Given the description of an element on the screen output the (x, y) to click on. 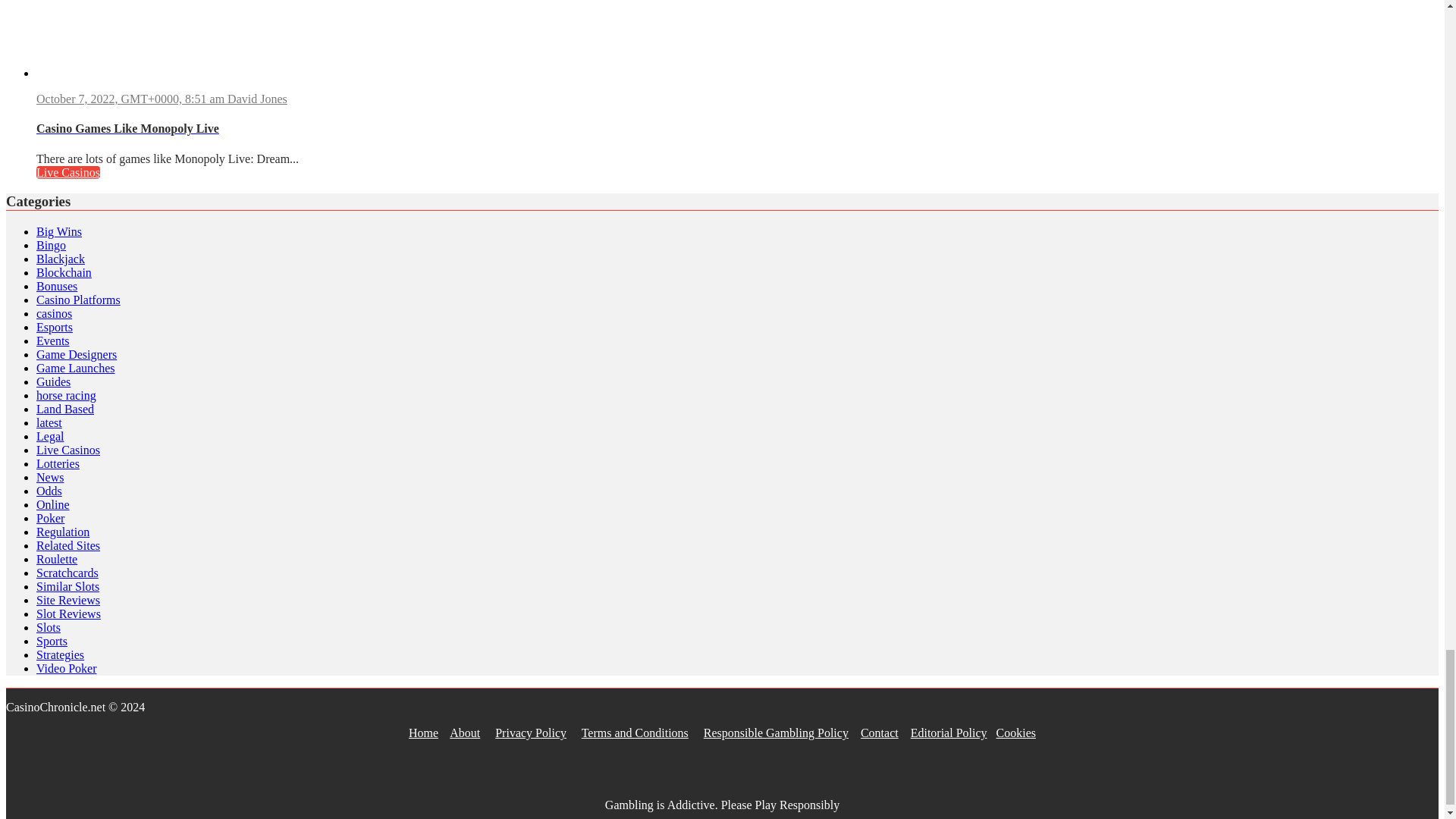
Casino Platforms (78, 299)
David Jones (256, 98)
Game Designers (76, 354)
Big Wins (58, 231)
Bonuses (56, 286)
casinos (53, 313)
Blackjack (60, 258)
Esports (54, 327)
Events (52, 340)
Bingo (50, 245)
